Given the description of an element on the screen output the (x, y) to click on. 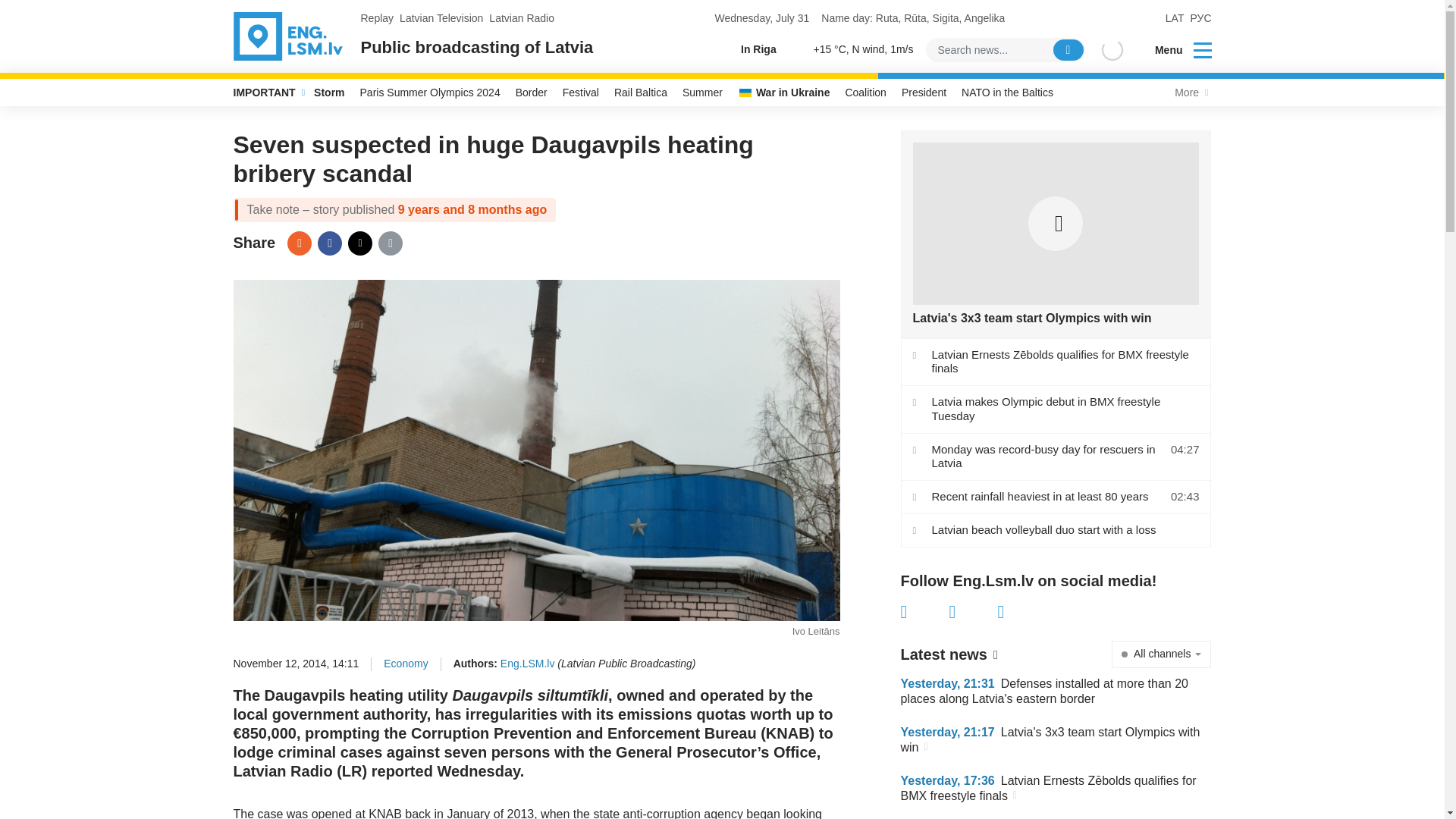
Menu (1173, 50)
Replay (377, 18)
Festival (580, 92)
Facebook (329, 242)
Linkedin (1021, 611)
Topics (1202, 49)
More (1189, 92)
Latvian Radio (521, 18)
Summer (702, 92)
War in Ukraine (784, 92)
Storm (328, 92)
Rail Baltica (641, 92)
Border (531, 92)
X (973, 611)
X (359, 242)
